Given the description of an element on the screen output the (x, y) to click on. 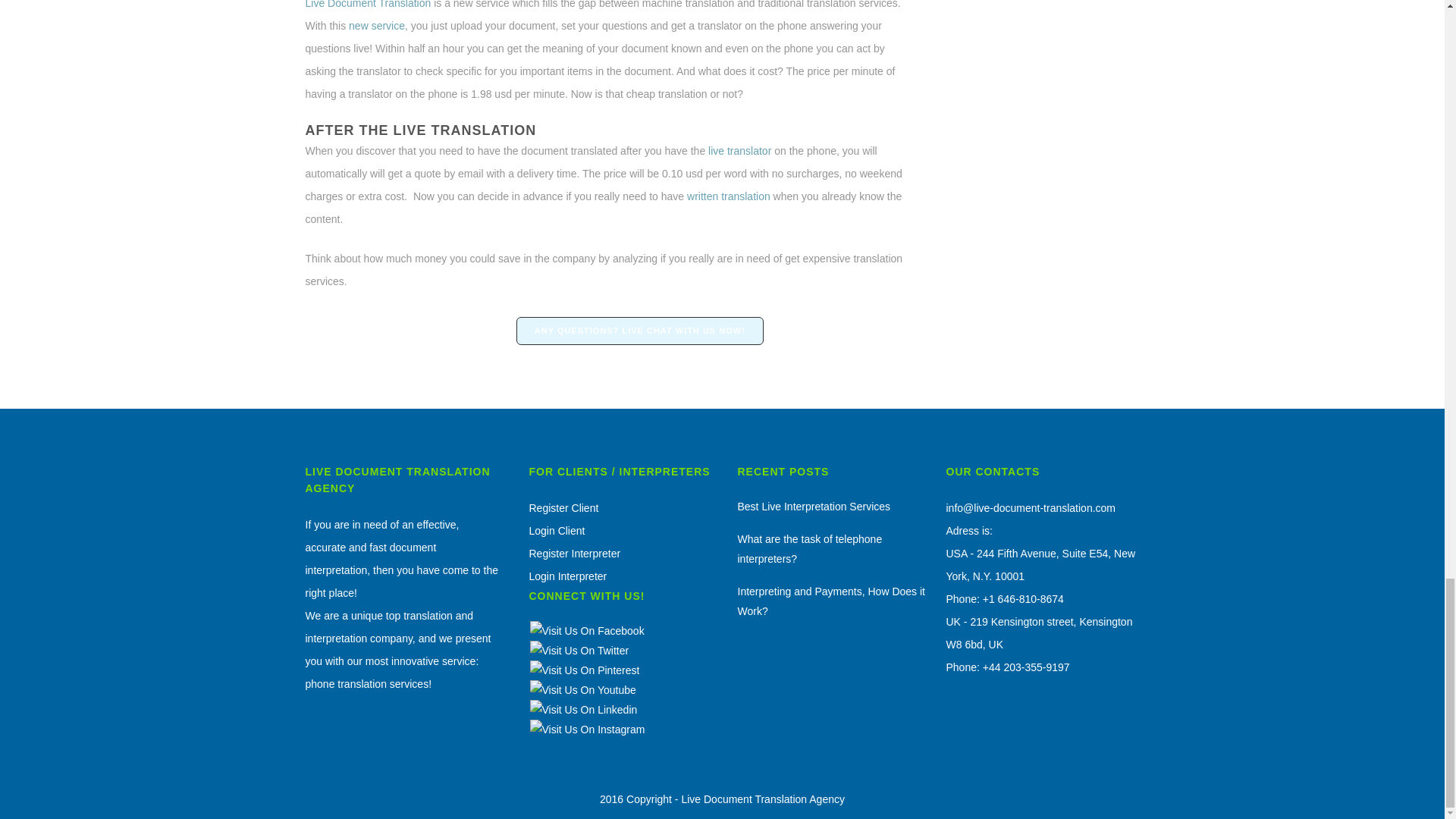
live translator (739, 150)
ANY QUESTIONS? LIVE CHAT WITH US NOW! (639, 330)
Visit Us On Twitter (578, 650)
new service (376, 25)
Visit Us On Pinterest (584, 670)
Visit Us On Instagram (587, 729)
Visit Us On Facebook (587, 630)
Visit Us On Linkedin (583, 709)
Live Document Translation (367, 4)
LIVE TRANSLATION (464, 130)
Visit Us On Youtube (582, 689)
written translation (727, 196)
